Given the description of an element on the screen output the (x, y) to click on. 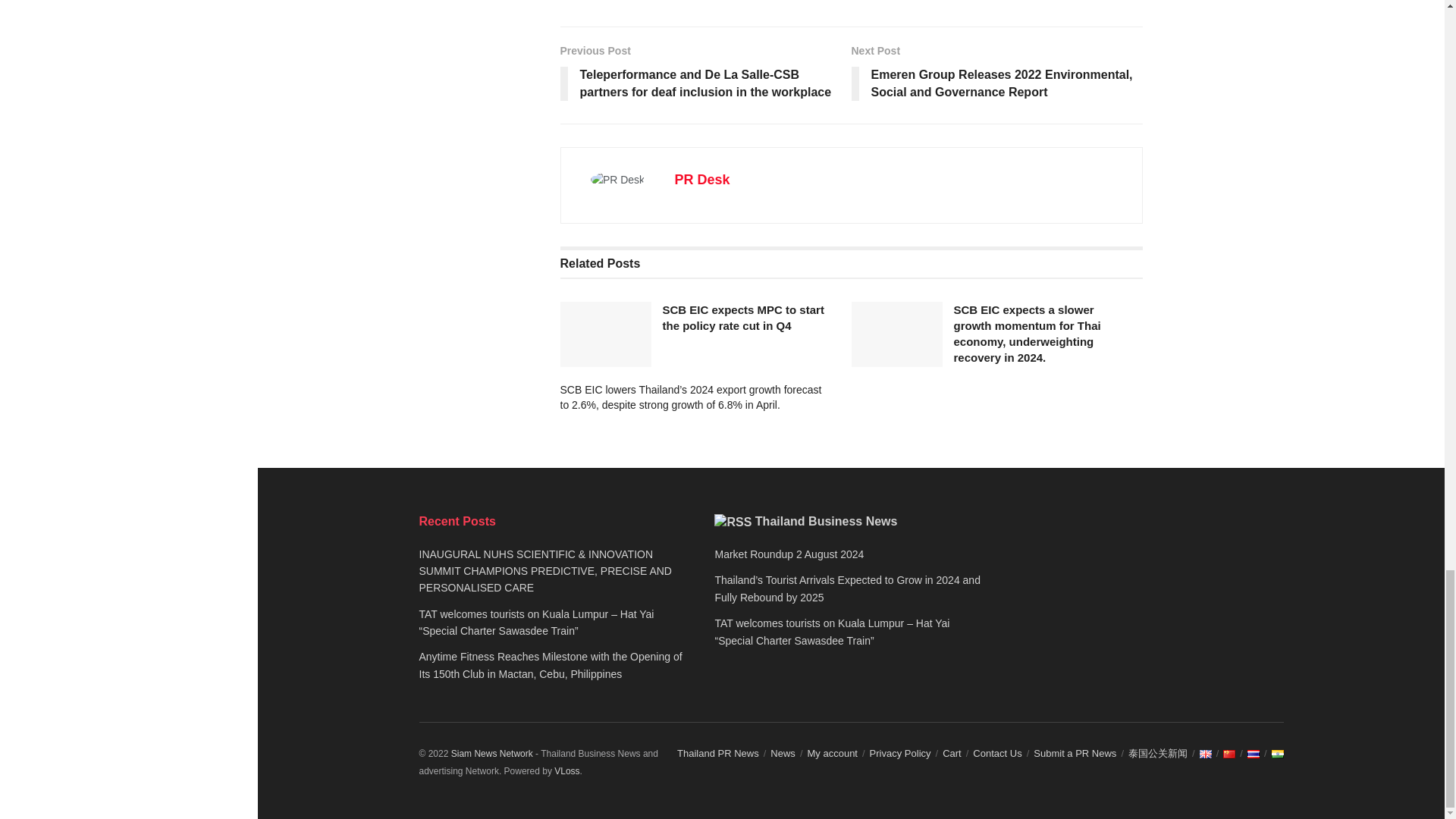
VLoss (566, 770)
Thailand Business News and advertising Network (491, 753)
